Given the description of an element on the screen output the (x, y) to click on. 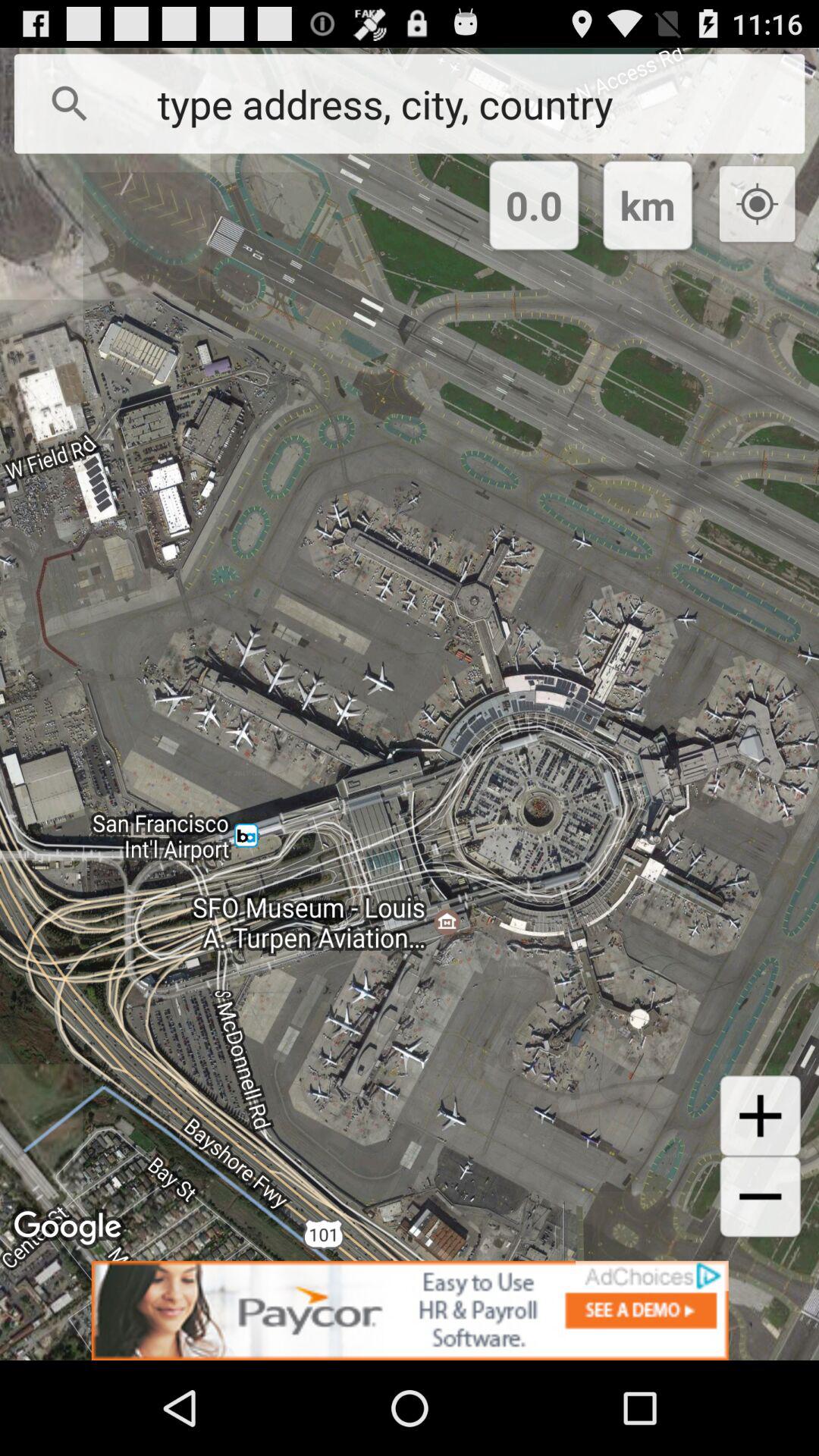
remove the add (409, 1310)
